Given the description of an element on the screen output the (x, y) to click on. 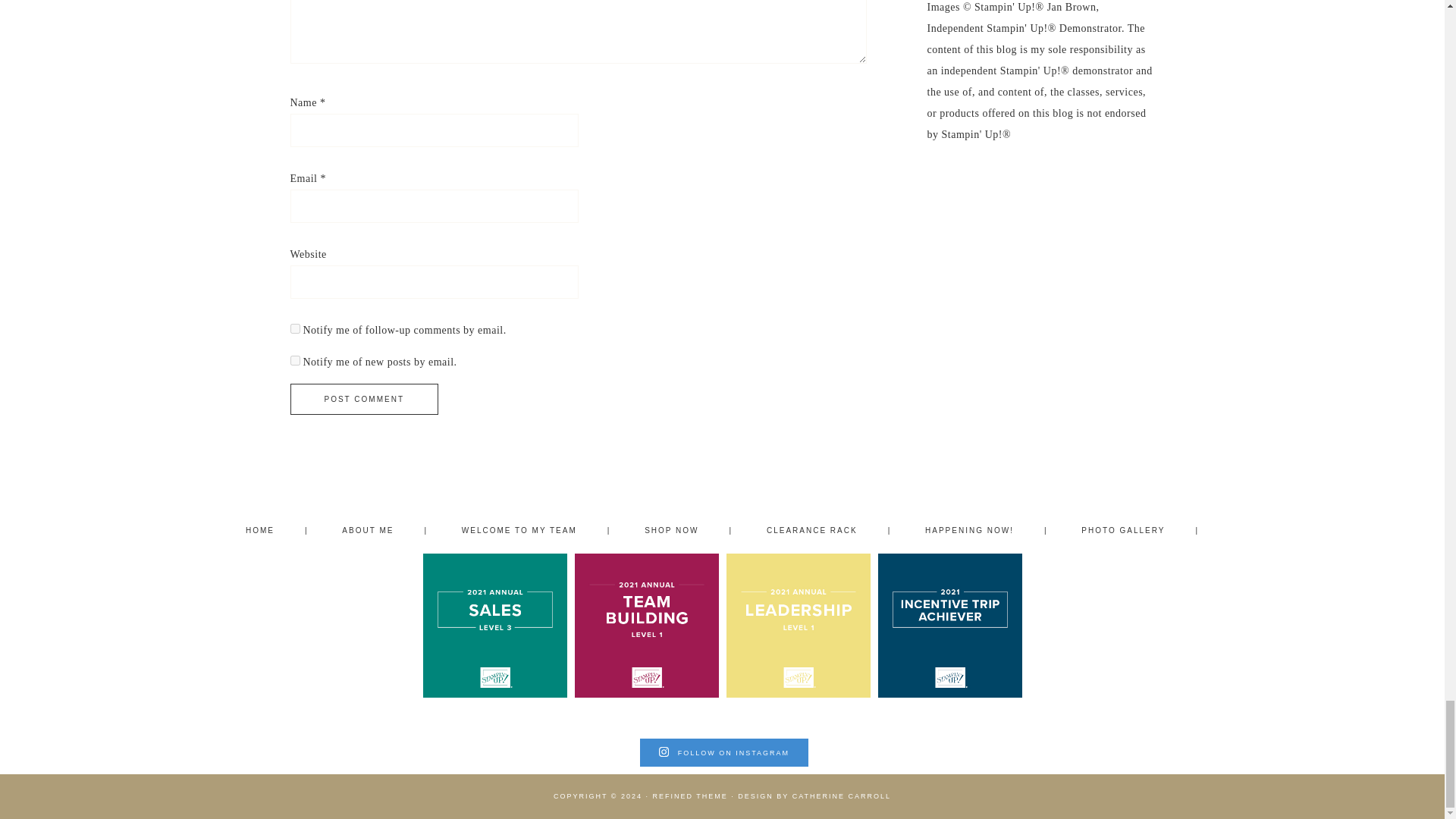
Post Comment (363, 399)
subscribe (294, 328)
subscribe (294, 360)
